Given the description of an element on the screen output the (x, y) to click on. 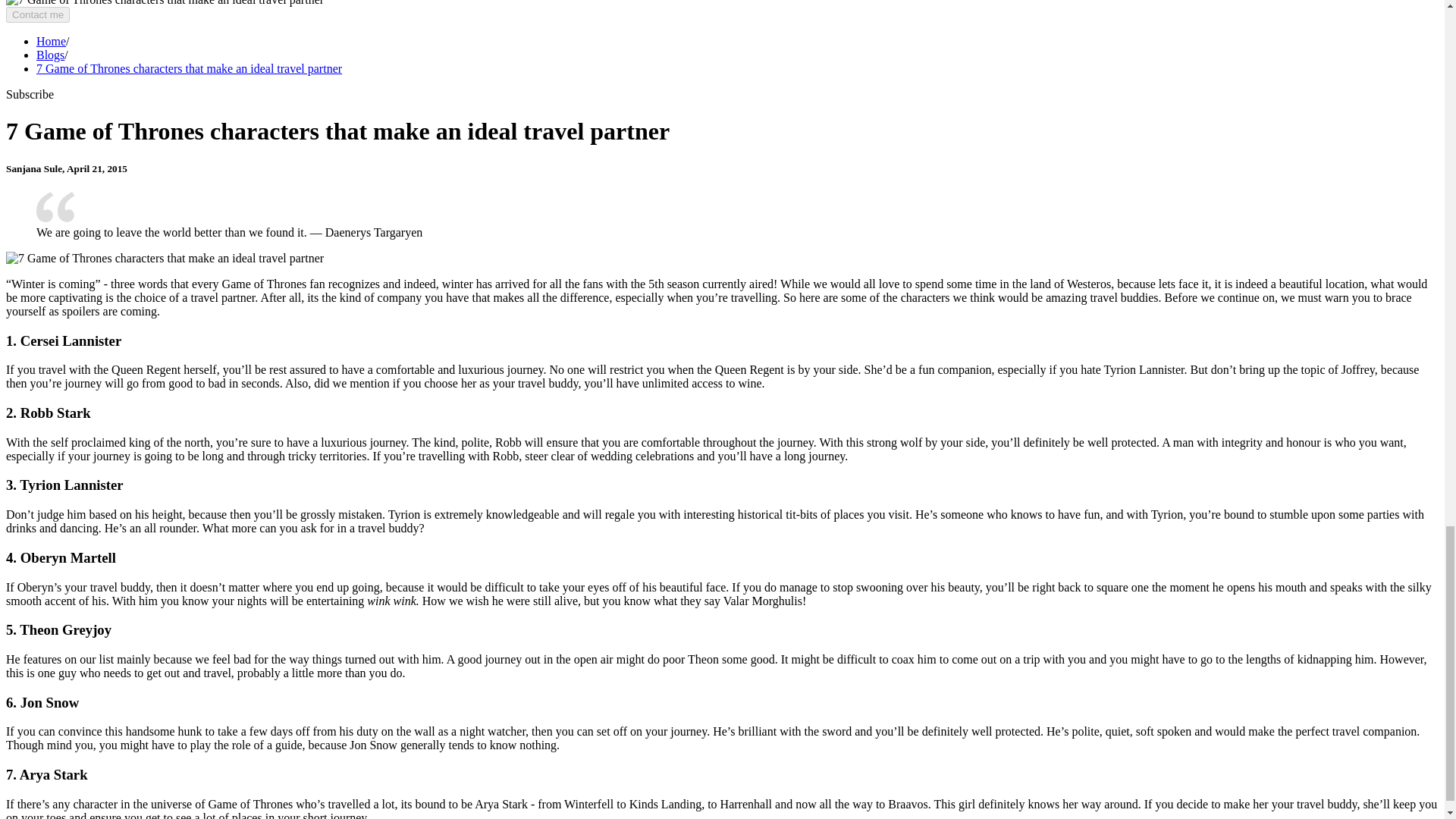
Contact me (37, 14)
Subscribe (29, 93)
Home (50, 41)
Blogs (50, 54)
